Given the description of an element on the screen output the (x, y) to click on. 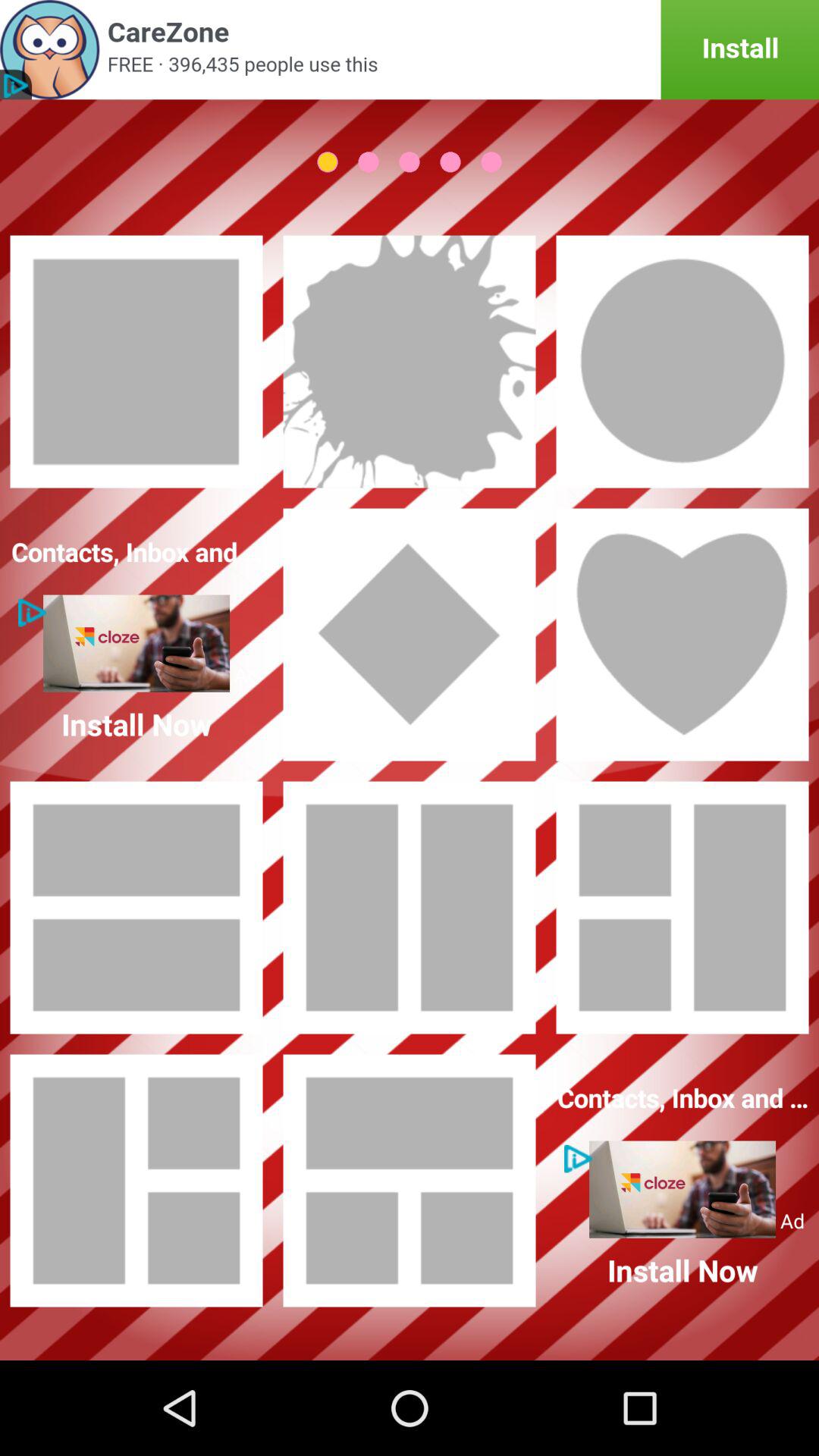
choose photo grid layout with three picture option (136, 1180)
